Given the description of an element on the screen output the (x, y) to click on. 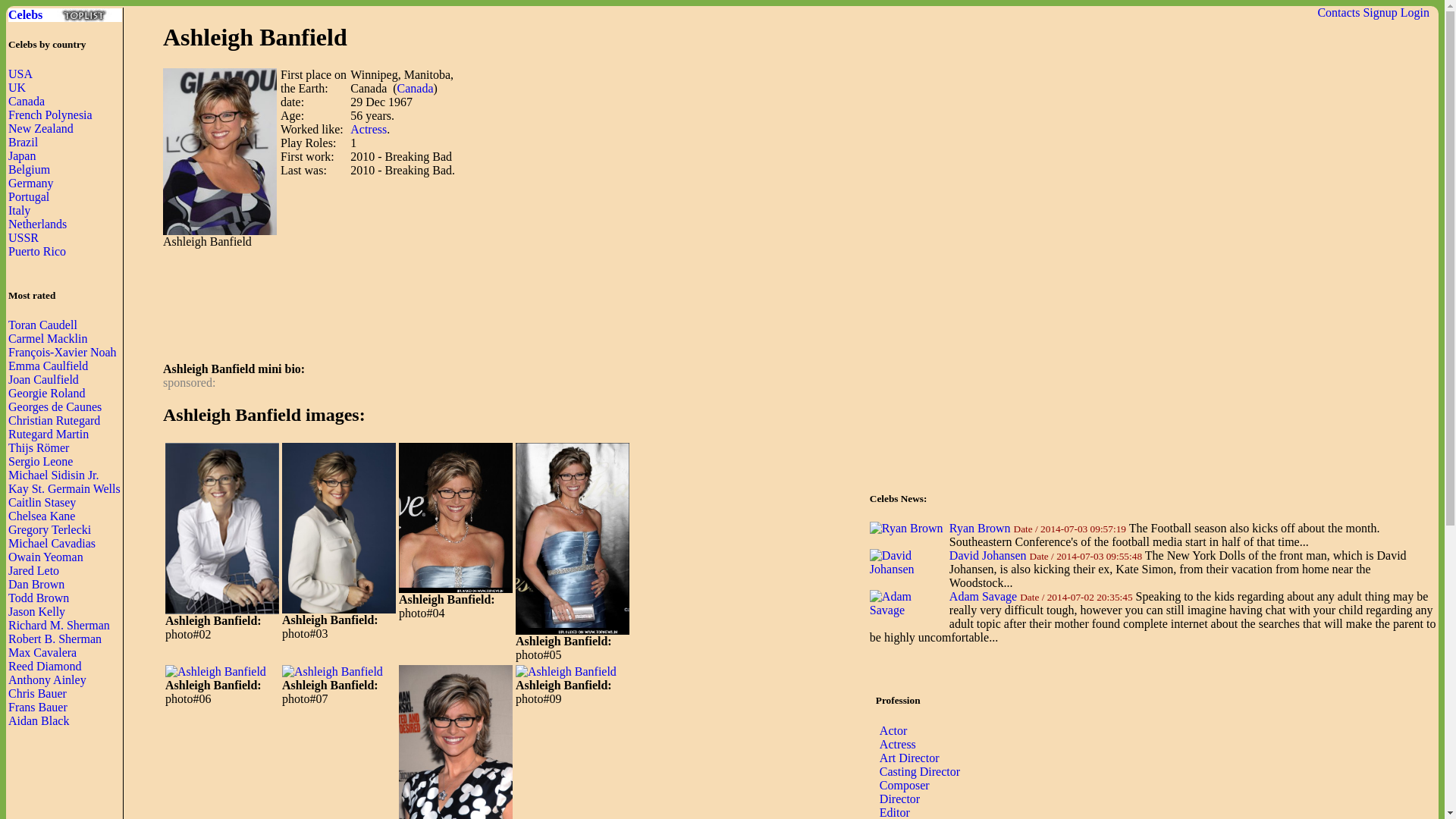
Emma Caulfield (47, 365)
USA (20, 73)
Todd Brown (38, 597)
Netherlands (37, 223)
Portugal (28, 196)
Joan Caulfield (43, 379)
UK (17, 87)
Michael Sidisin Jr. (53, 474)
Georges de Caunes (54, 406)
Chelsea Kane (41, 515)
Portugal (28, 196)
Italy (19, 210)
Gregory Terlecki (49, 529)
USSR  (23, 237)
Canada (26, 101)
